Given the description of an element on the screen output the (x, y) to click on. 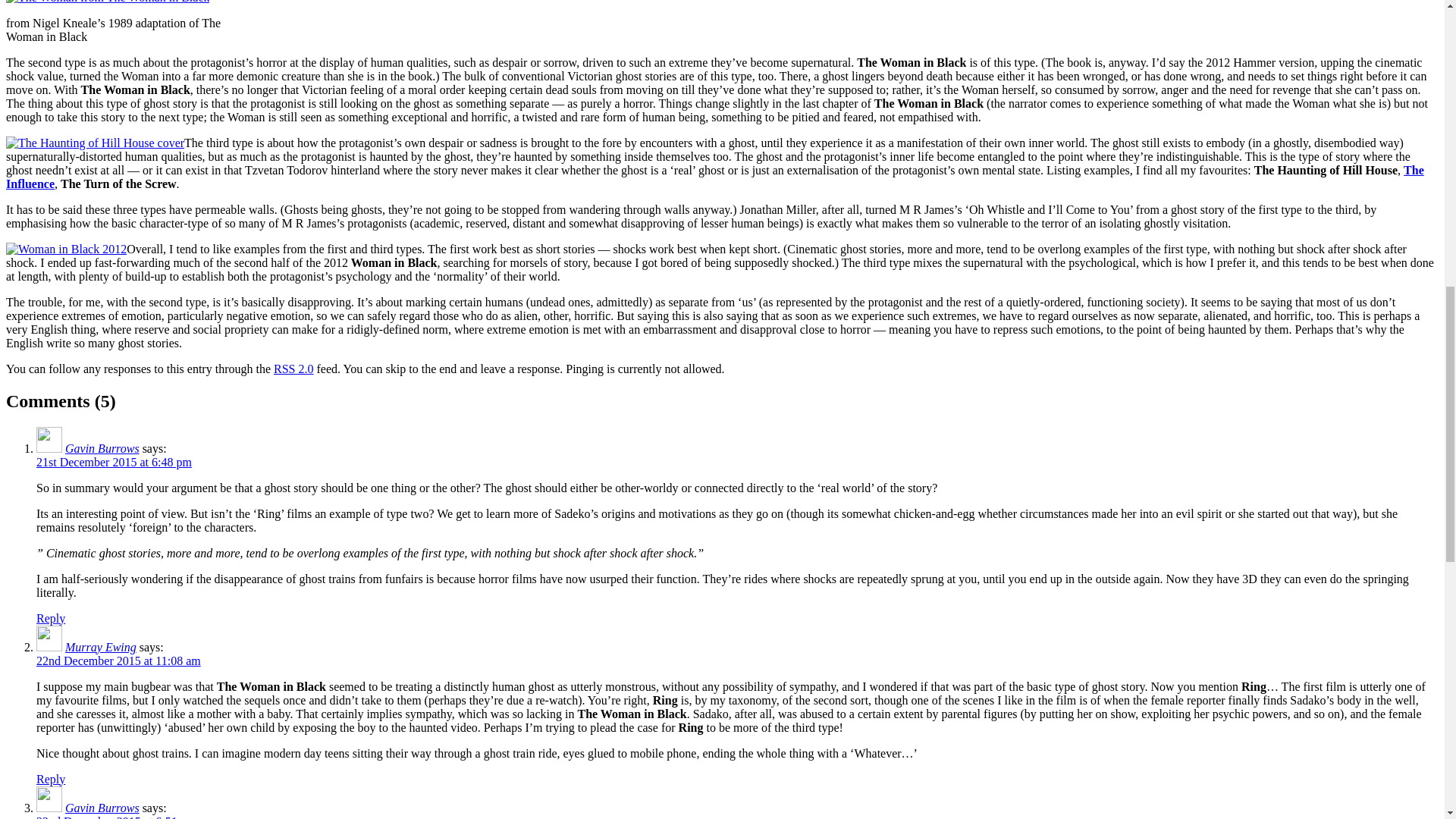
RSS 2.0 (293, 368)
The Influence (714, 176)
Gavin Burrows (102, 448)
